Given the description of an element on the screen output the (x, y) to click on. 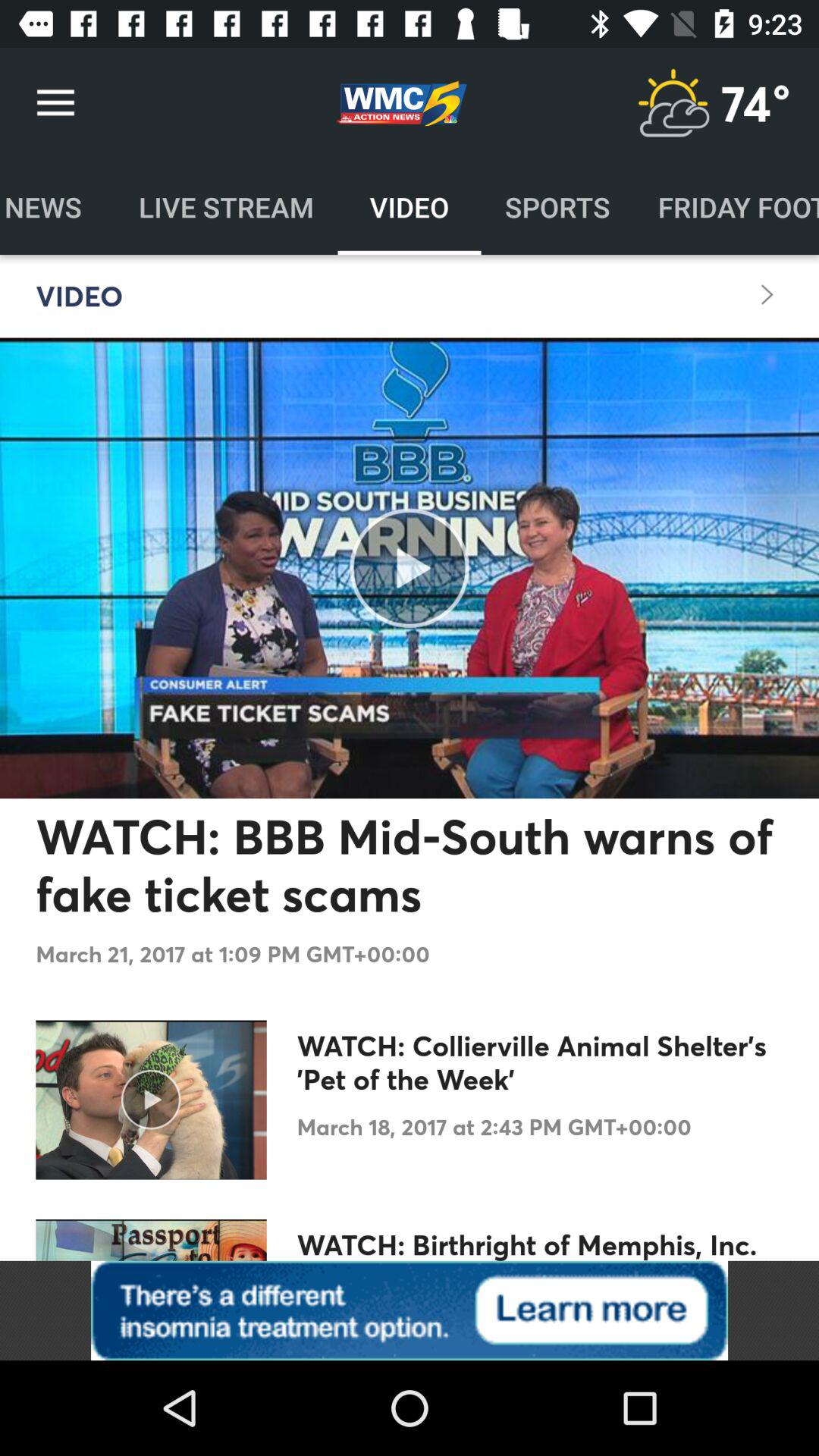
tap icon above the news (55, 103)
